Given the description of an element on the screen output the (x, y) to click on. 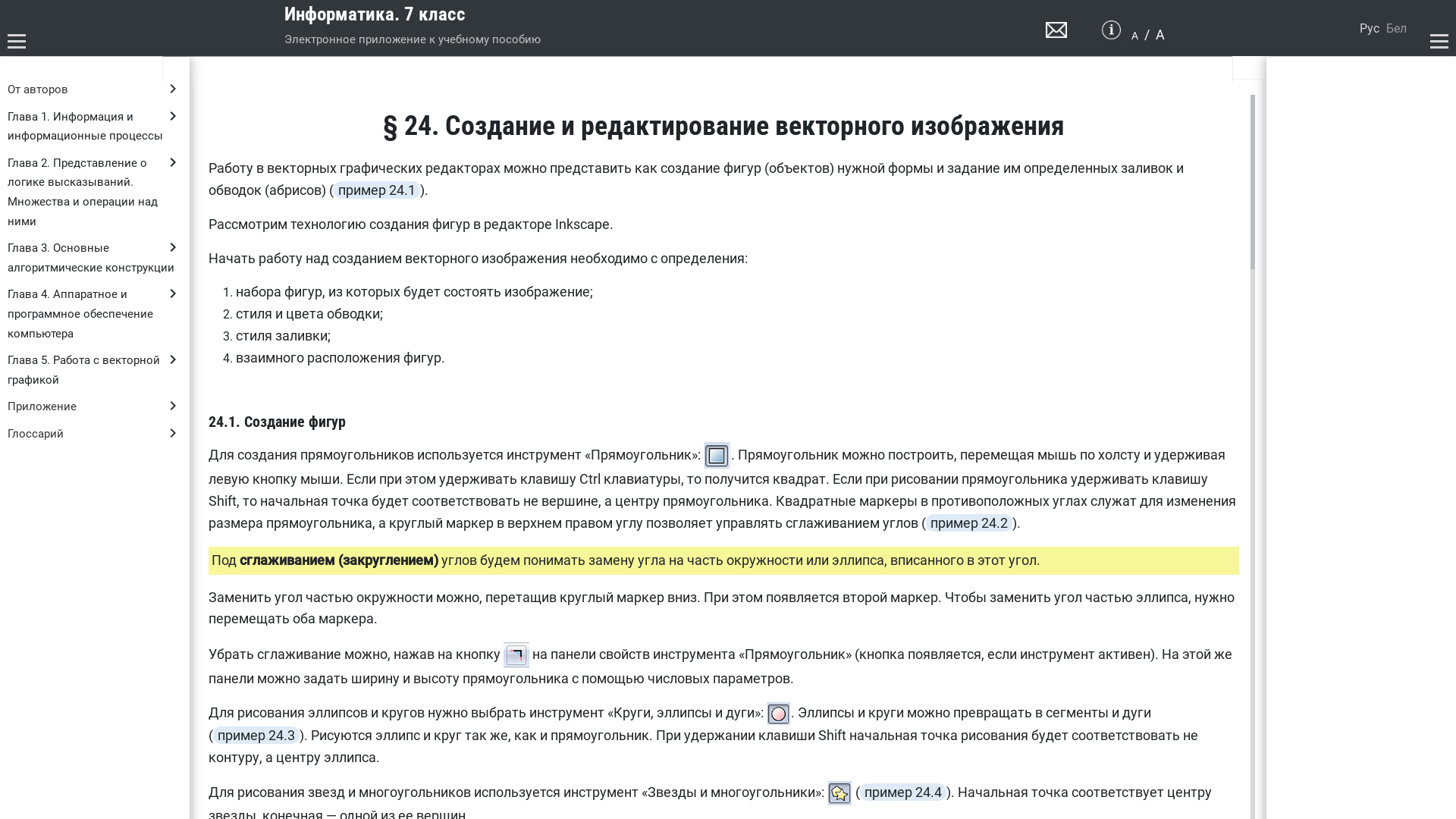
A Element type: text (1134, 35)
A Element type: text (1159, 34)
